Given the description of an element on the screen output the (x, y) to click on. 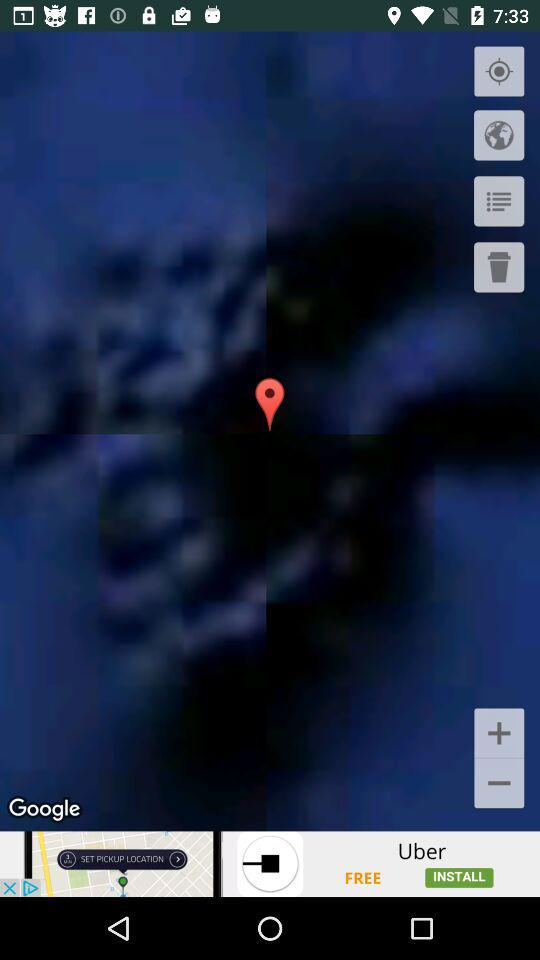
click the delete button (499, 267)
